Given the description of an element on the screen output the (x, y) to click on. 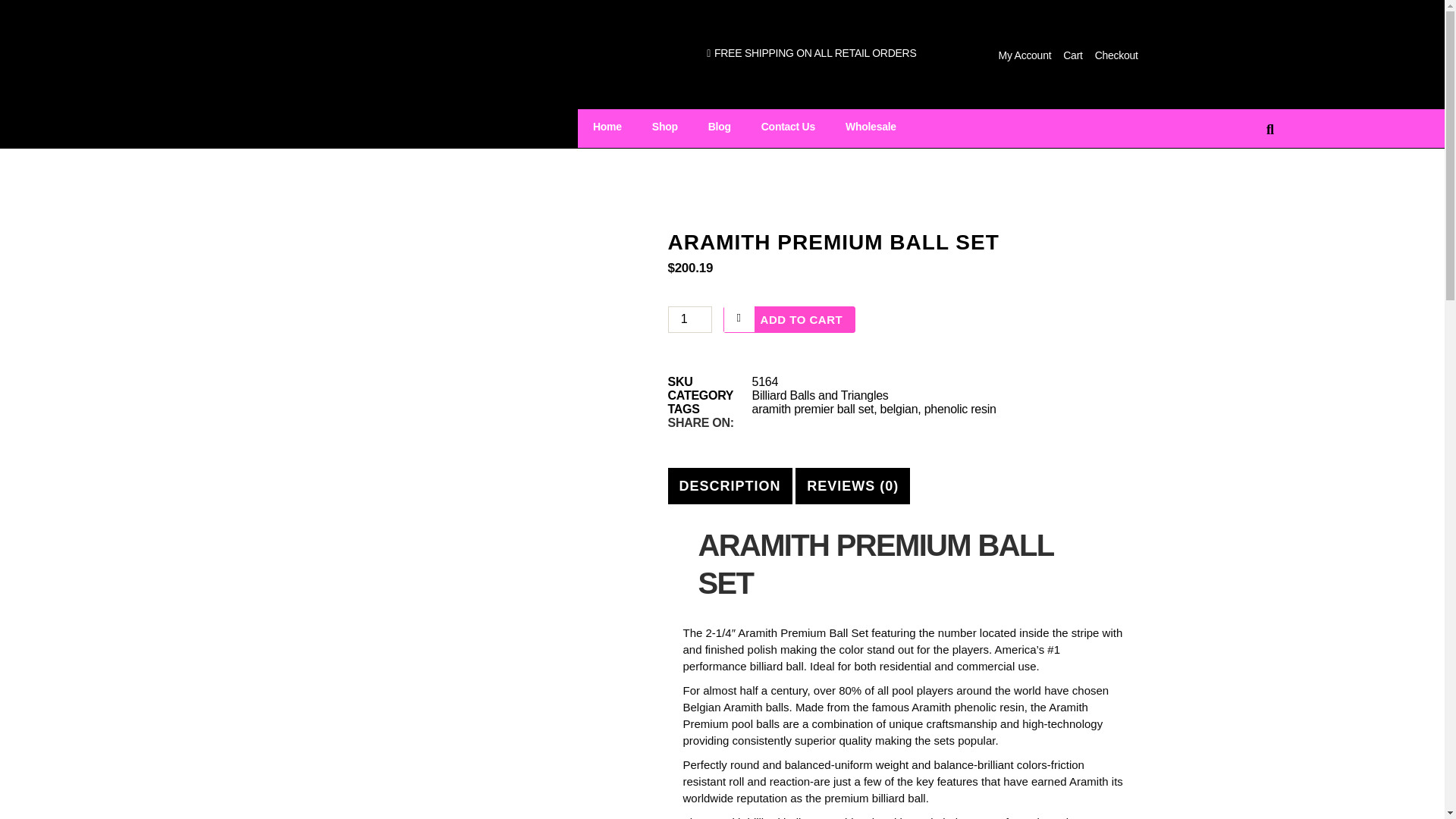
1 (688, 319)
Shop (665, 126)
Cart (1072, 54)
Home (607, 126)
Shop (665, 126)
Checkout (1116, 54)
My Account (1025, 54)
